Given the description of an element on the screen output the (x, y) to click on. 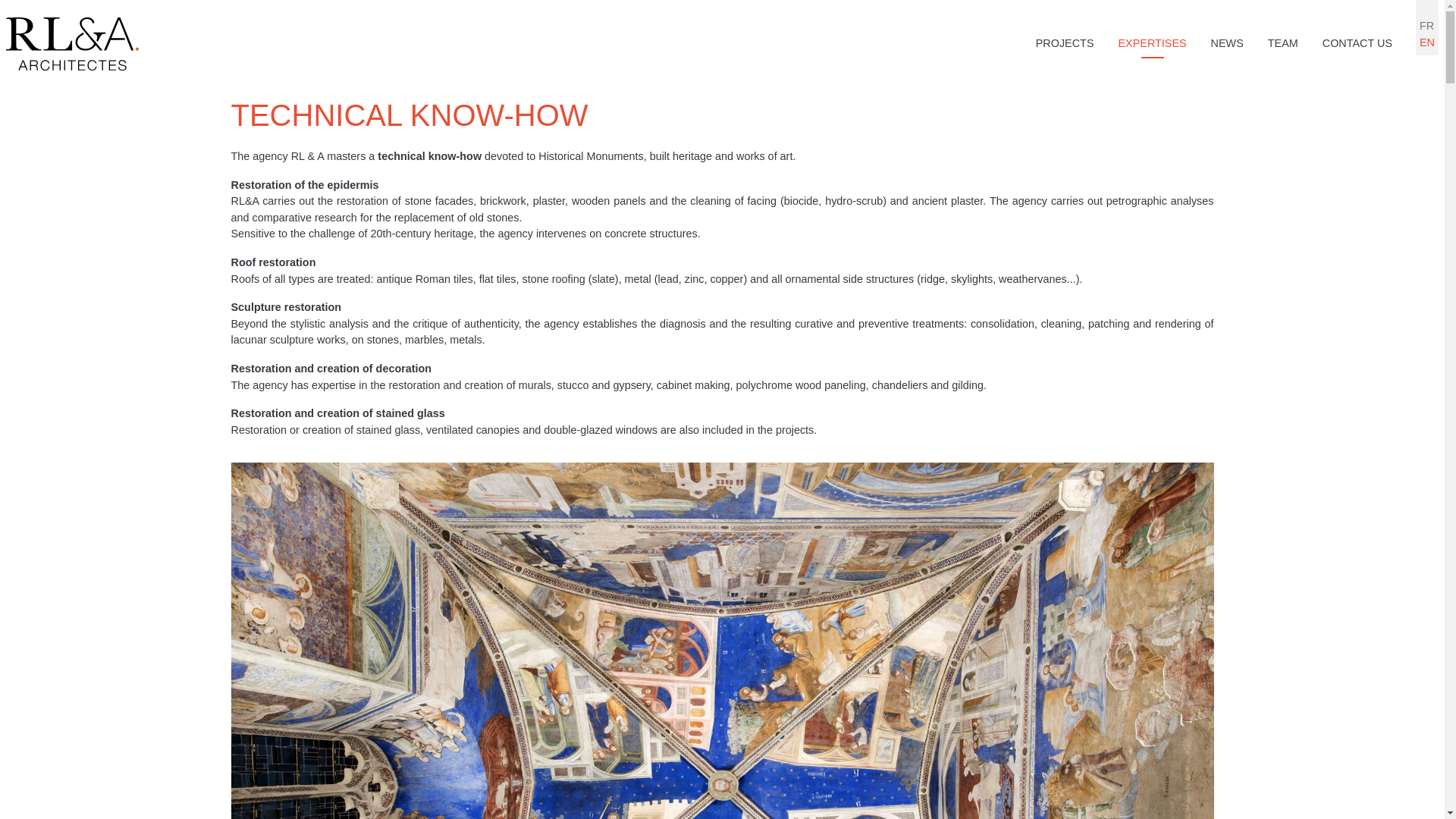
NEWS (1226, 43)
FR (1426, 25)
Home (71, 43)
PROJECTS (1064, 43)
EN (1426, 42)
EXPERTISES (1151, 43)
CONTACT US (1357, 43)
TEAM (1282, 43)
